Given the description of an element on the screen output the (x, y) to click on. 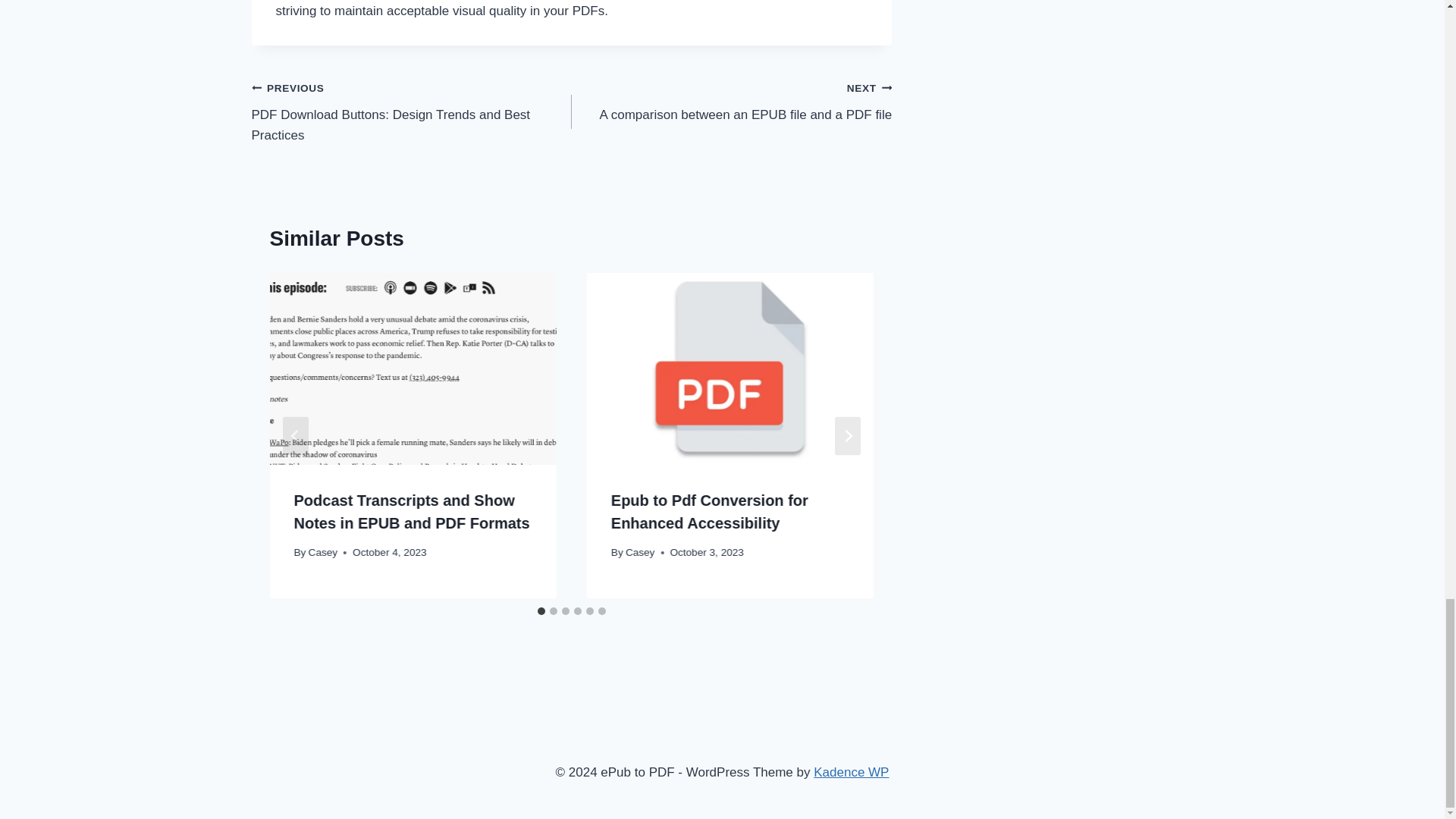
Casey (322, 552)
Podcast Transcripts and Show Notes in EPUB and PDF Formats (411, 511)
